Given the description of an element on the screen output the (x, y) to click on. 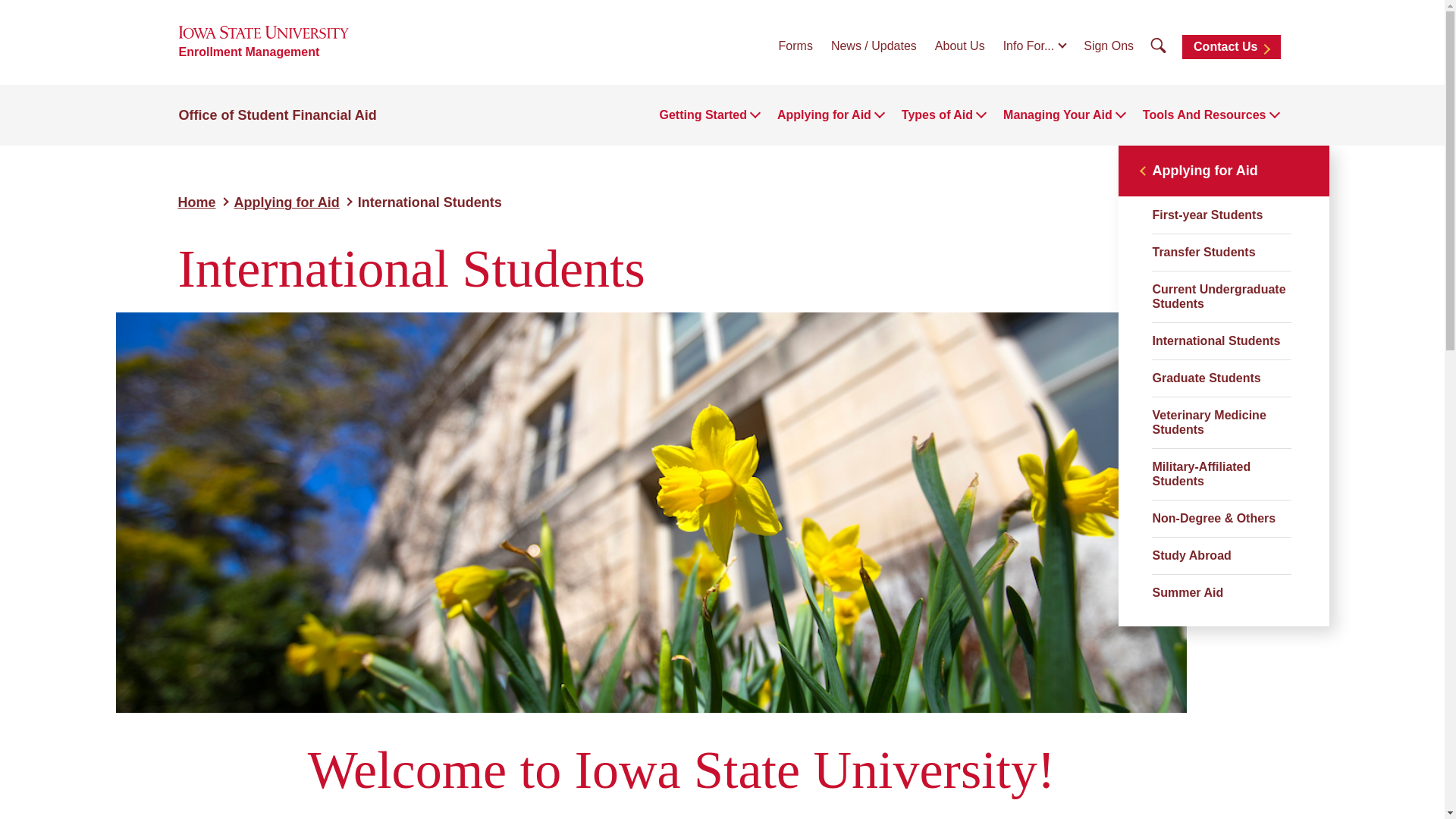
Info For... (1034, 46)
Sign Ons (1108, 45)
Getting Started (702, 115)
Search (1158, 45)
Office of Student Financial Aid (278, 114)
Contact Us (1230, 46)
Types of Aid (936, 115)
Enrollment Management (249, 51)
Forms (795, 45)
